Given the description of an element on the screen output the (x, y) to click on. 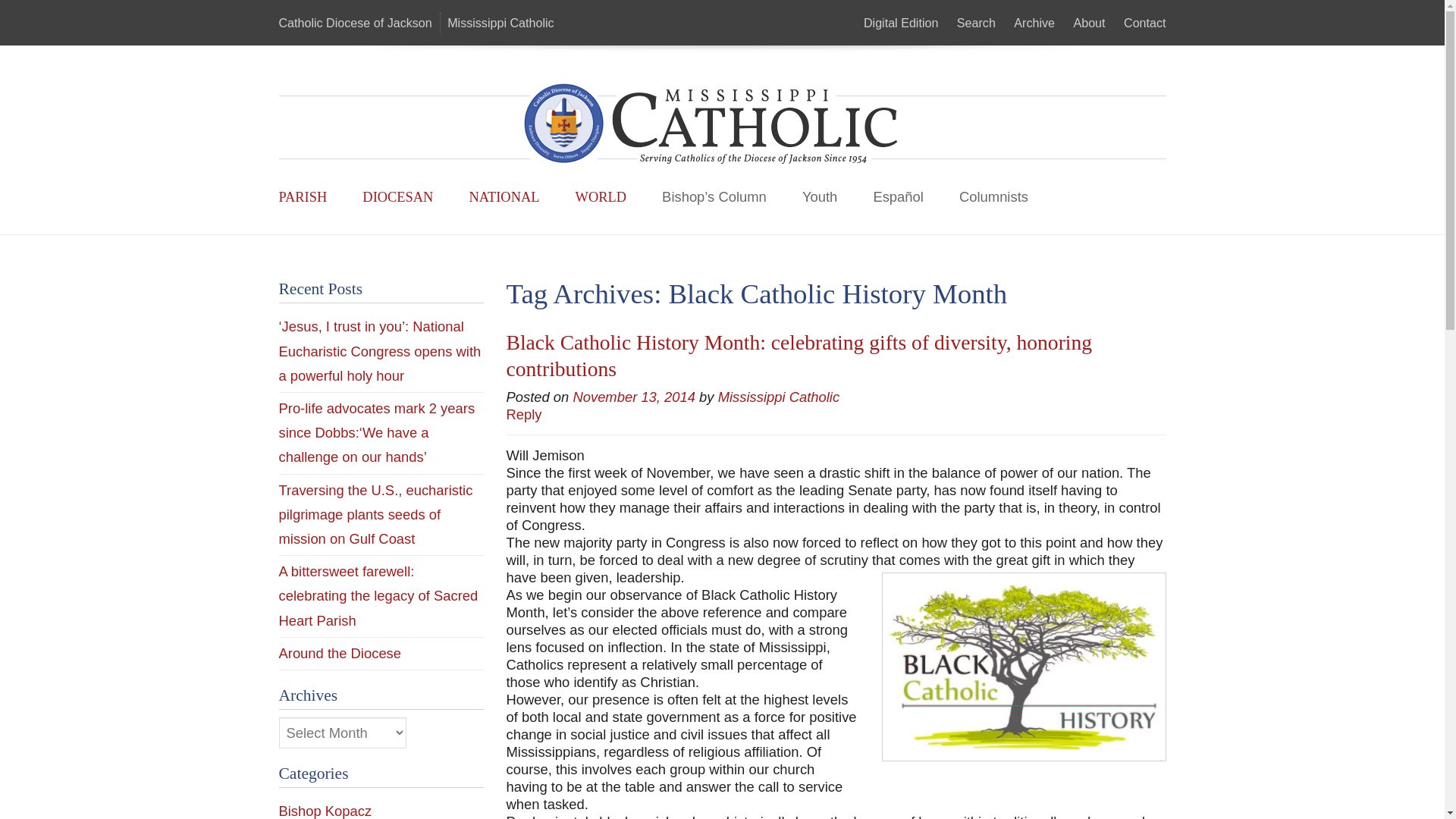
Contact (1145, 22)
WORLD (600, 196)
Around the Diocese (340, 652)
Digital Edition (900, 22)
November 13, 2014 (633, 396)
Youth (819, 196)
View all posts by Mississippi Catholic (778, 396)
NATIONAL (503, 196)
Mississippi Catholic (778, 396)
About (1089, 22)
Reply (523, 414)
6:09 pm (633, 396)
